Given the description of an element on the screen output the (x, y) to click on. 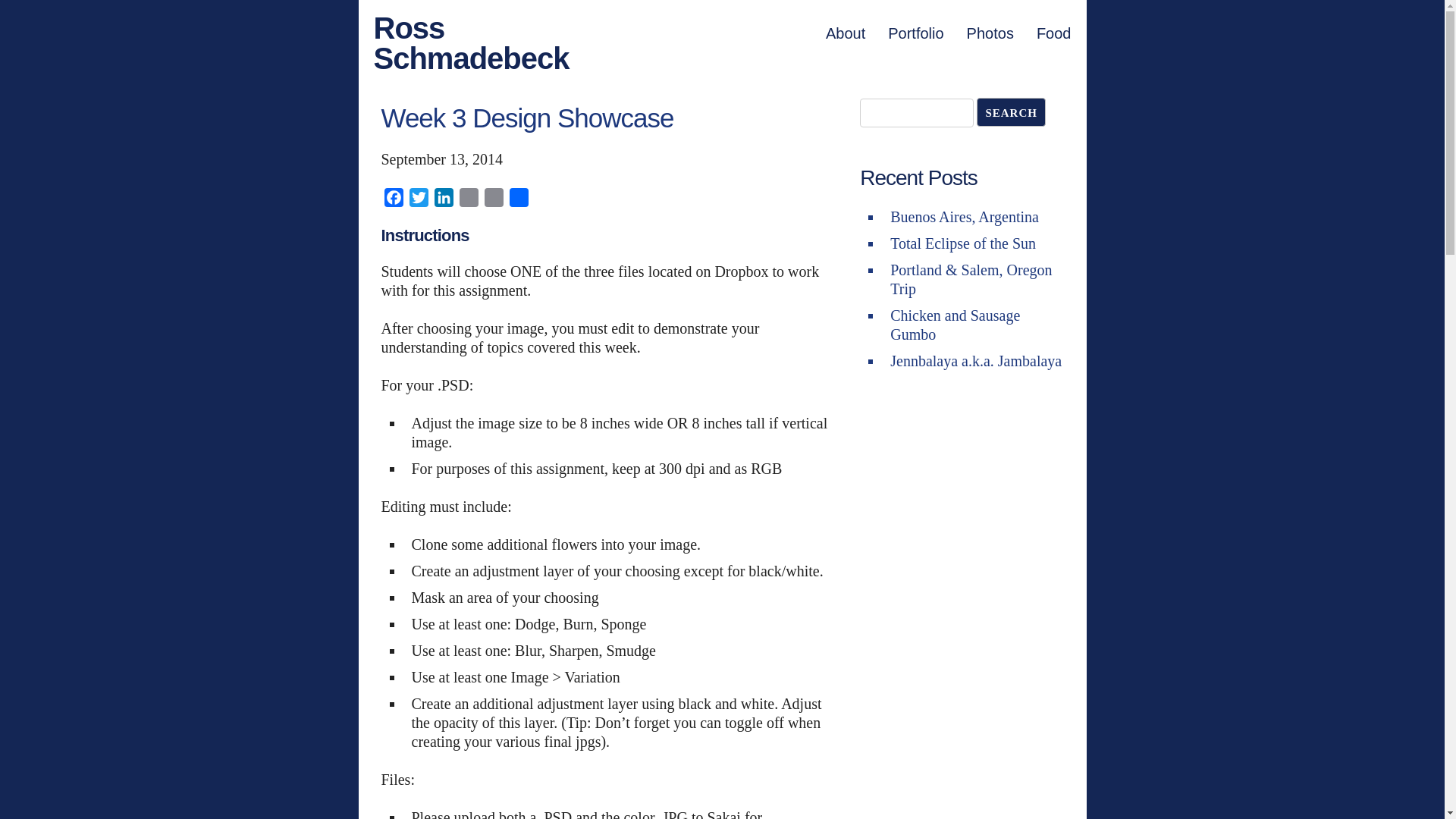
LinkedIn (442, 200)
Email (469, 200)
Food (1053, 33)
Email (469, 200)
Ross Schmadebeck (470, 43)
Facebook (393, 200)
Jennbalaya a.k.a. Jambalaya (975, 360)
Buenos Aires, Argentina (964, 216)
Total Eclipse of the Sun (962, 243)
Search (1010, 111)
Copy Link (492, 200)
About (844, 33)
Twitter (418, 200)
Share (518, 200)
Chicken and Sausage Gumbo (954, 325)
